Given the description of an element on the screen output the (x, y) to click on. 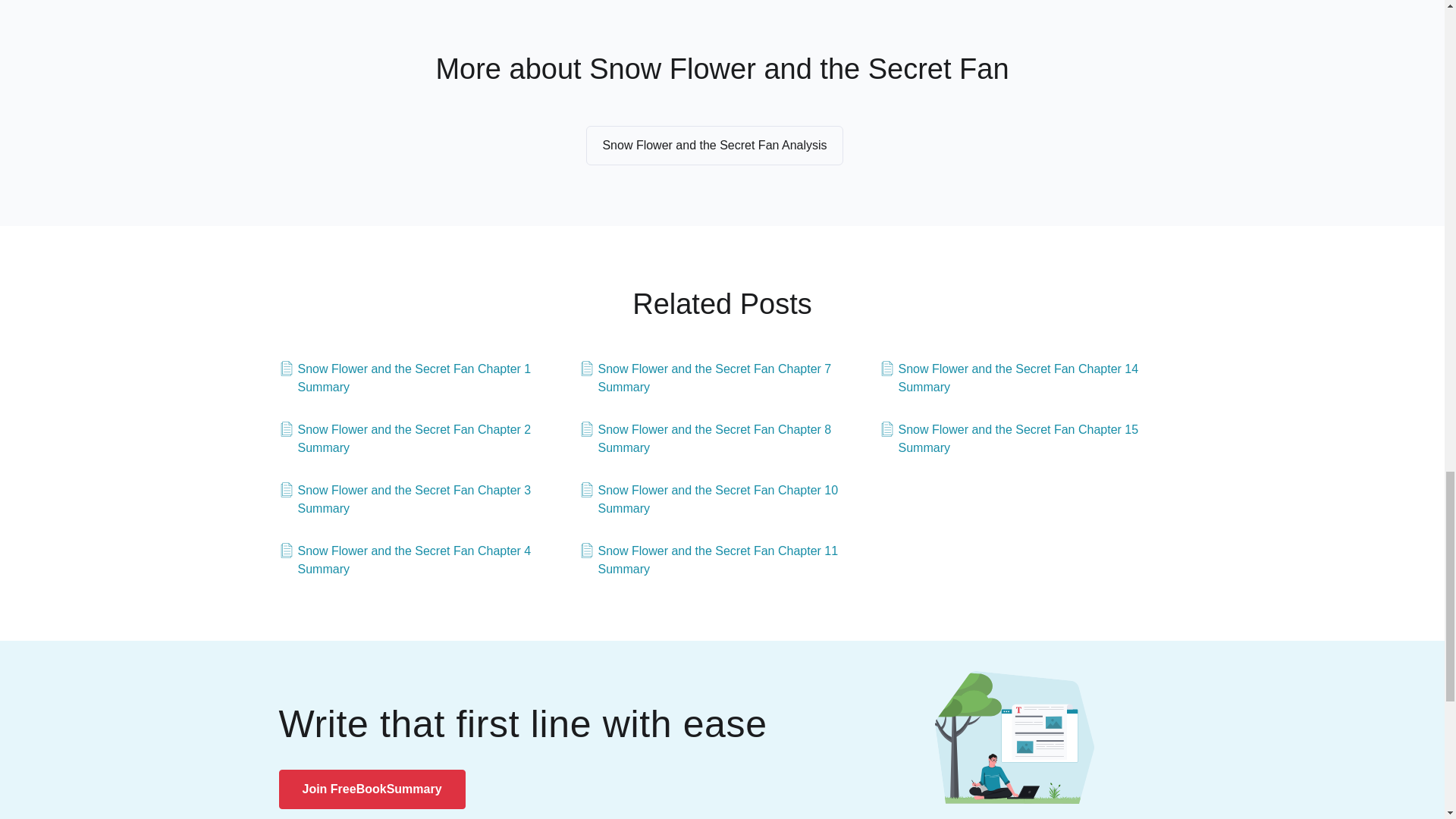
Snow Flower and the Secret Fan Chapter 8 Summary (722, 438)
Snow Flower and the Secret Fan Chapter 4 Summary (422, 560)
Snow Flower and the Secret Fan Chapter 11 Summary (722, 560)
Snow Flower and the Secret Fan Chapter 14 Summary (1022, 378)
Snow Flower and the Secret Fan Chapter 10 Summary (722, 499)
Snow Flower and the Secret Fan Chapter 7 Summary (722, 378)
Snow Flower and the Secret Fan Chapter 2 Summary (422, 438)
Snow Flower and the Secret Fan Chapter 3 Summary (422, 499)
Snow Flower and the Secret Fan Chapter 15 Summary (1022, 438)
Snow Flower and the Secret Fan Chapter 1 Summary (422, 378)
Snow Flower and the Secret Fan Analysis (714, 145)
